Given the description of an element on the screen output the (x, y) to click on. 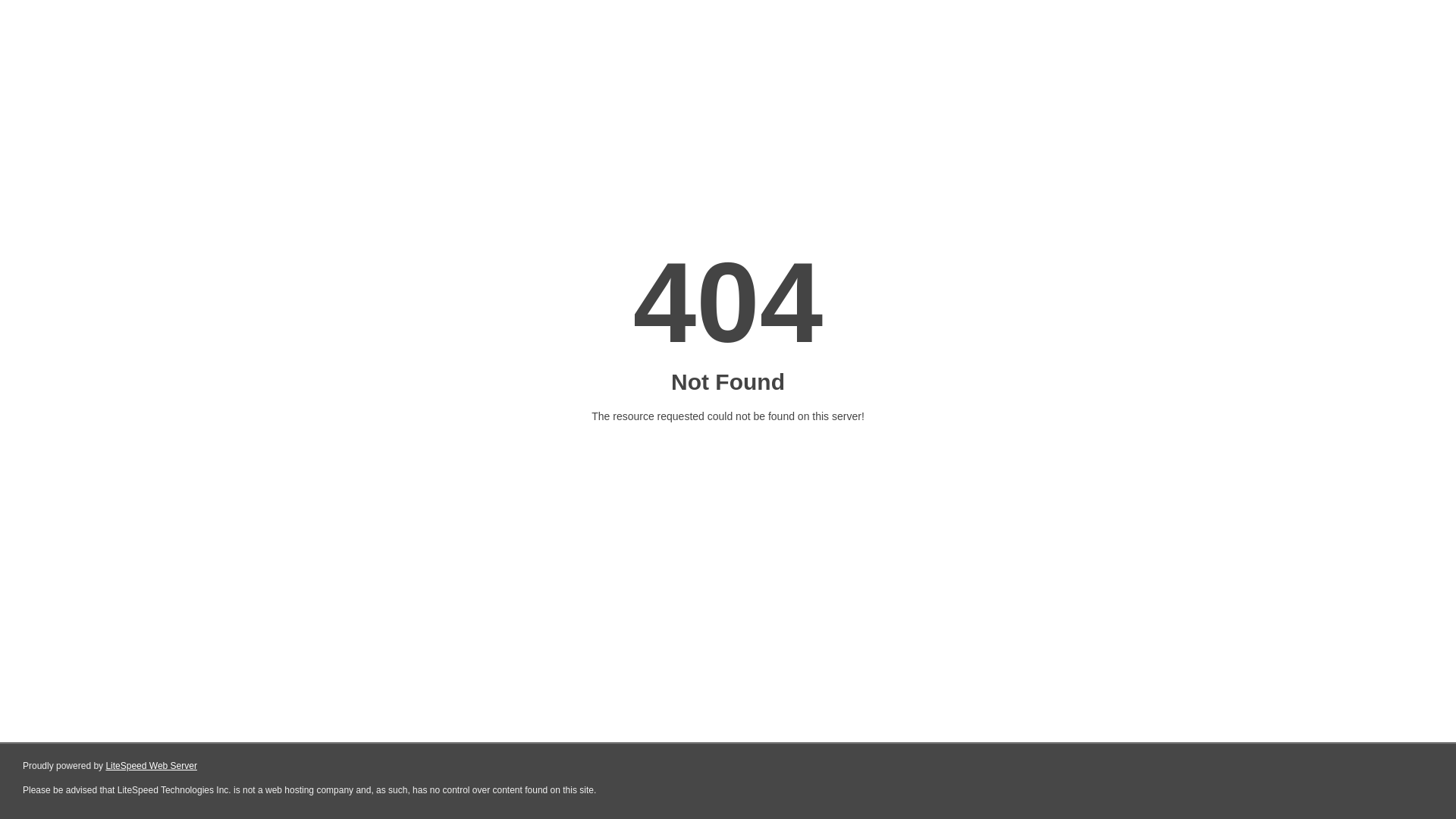
LiteSpeed Web Server Element type: text (151, 765)
